Given the description of an element on the screen output the (x, y) to click on. 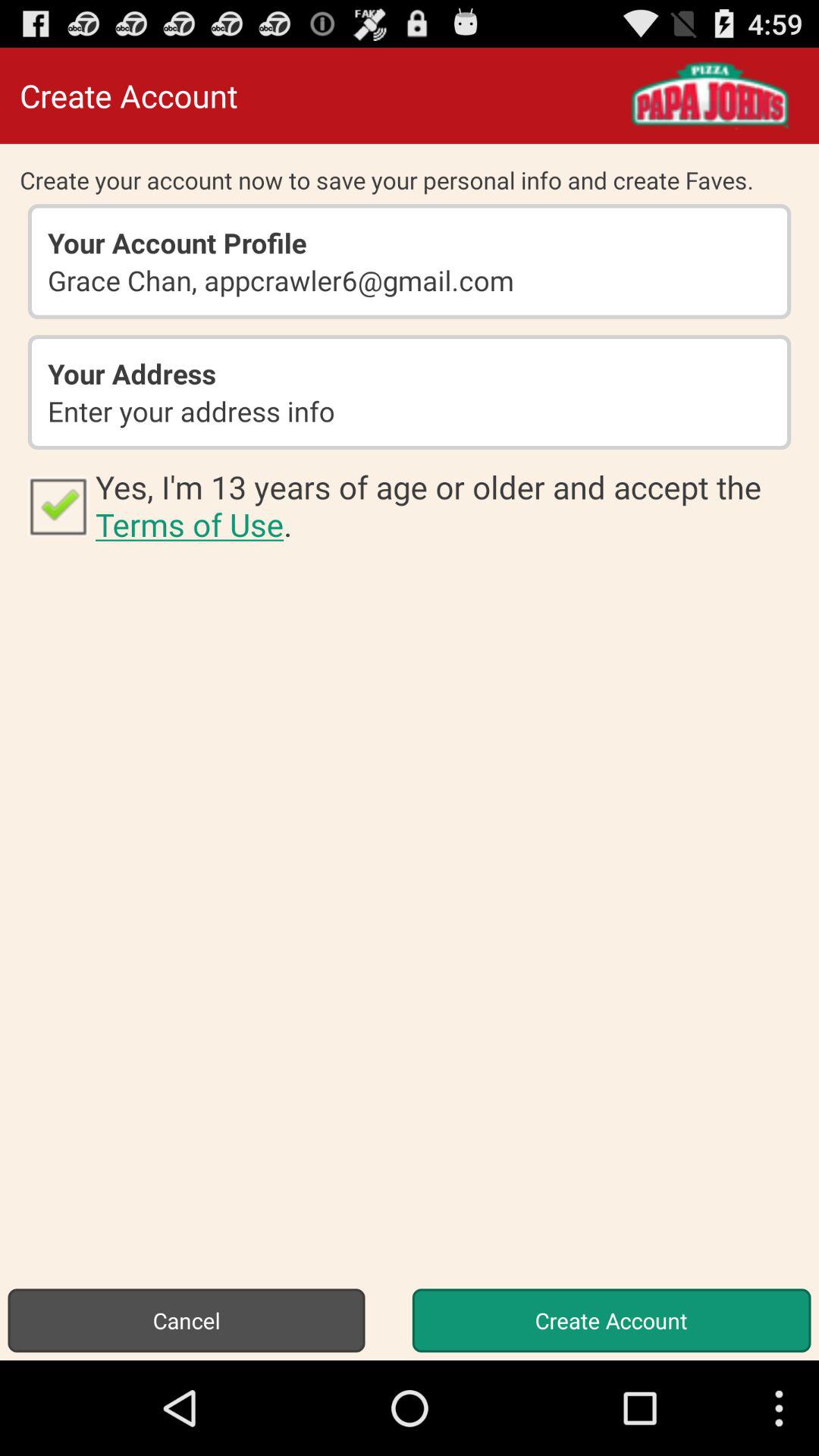
scroll to cancel button (186, 1320)
